Given the description of an element on the screen output the (x, y) to click on. 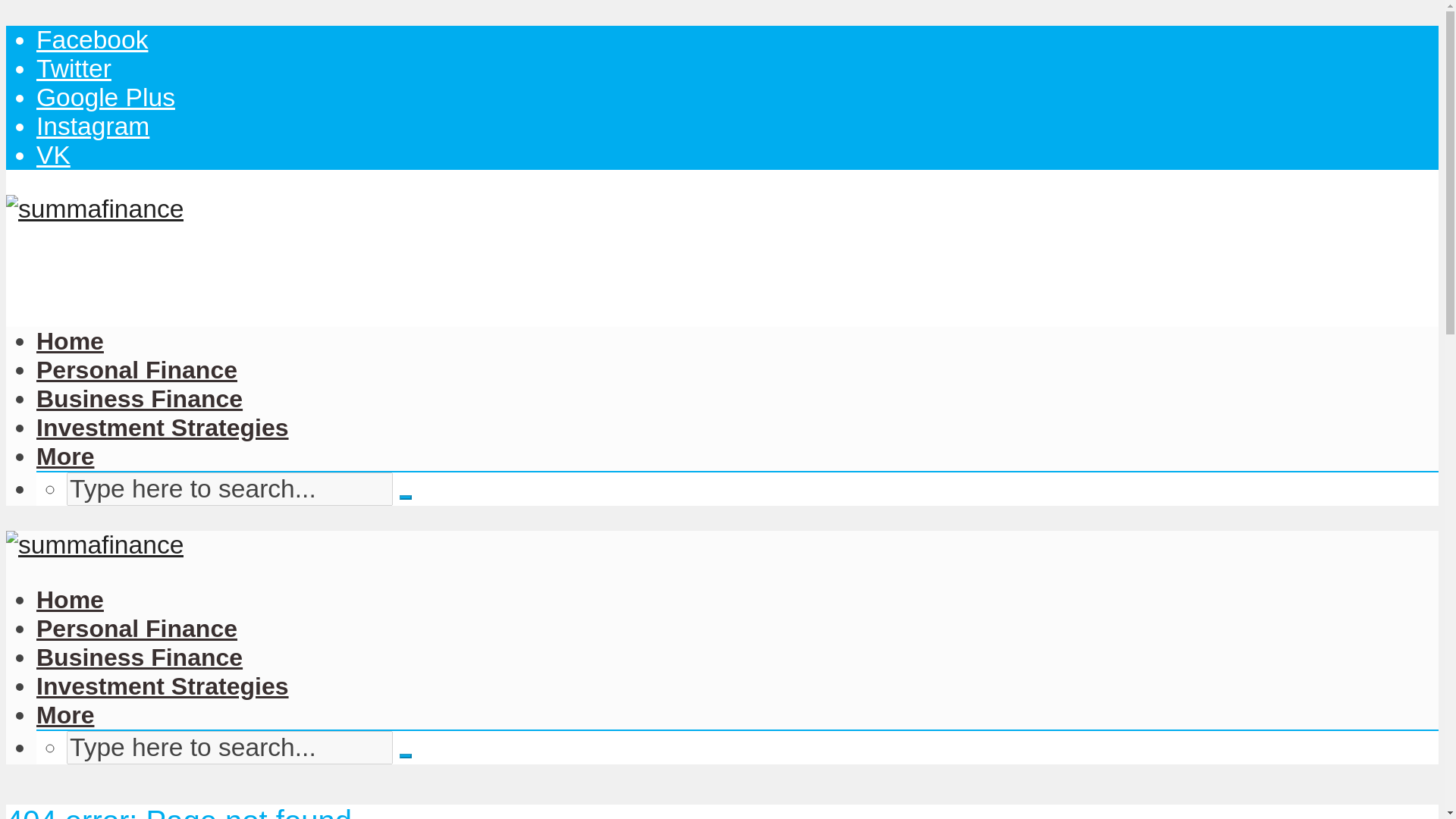
More (65, 456)
Business Finance (139, 398)
Twitter (74, 68)
VK (52, 154)
More (65, 714)
Type here to search... (229, 489)
Home (69, 340)
Google Plus (105, 97)
Personal Finance (136, 370)
Type here to search... (229, 747)
Home (69, 599)
Investment Strategies (162, 427)
Facebook (92, 39)
Instagram (92, 126)
Type here to search... (229, 747)
